Given the description of an element on the screen output the (x, y) to click on. 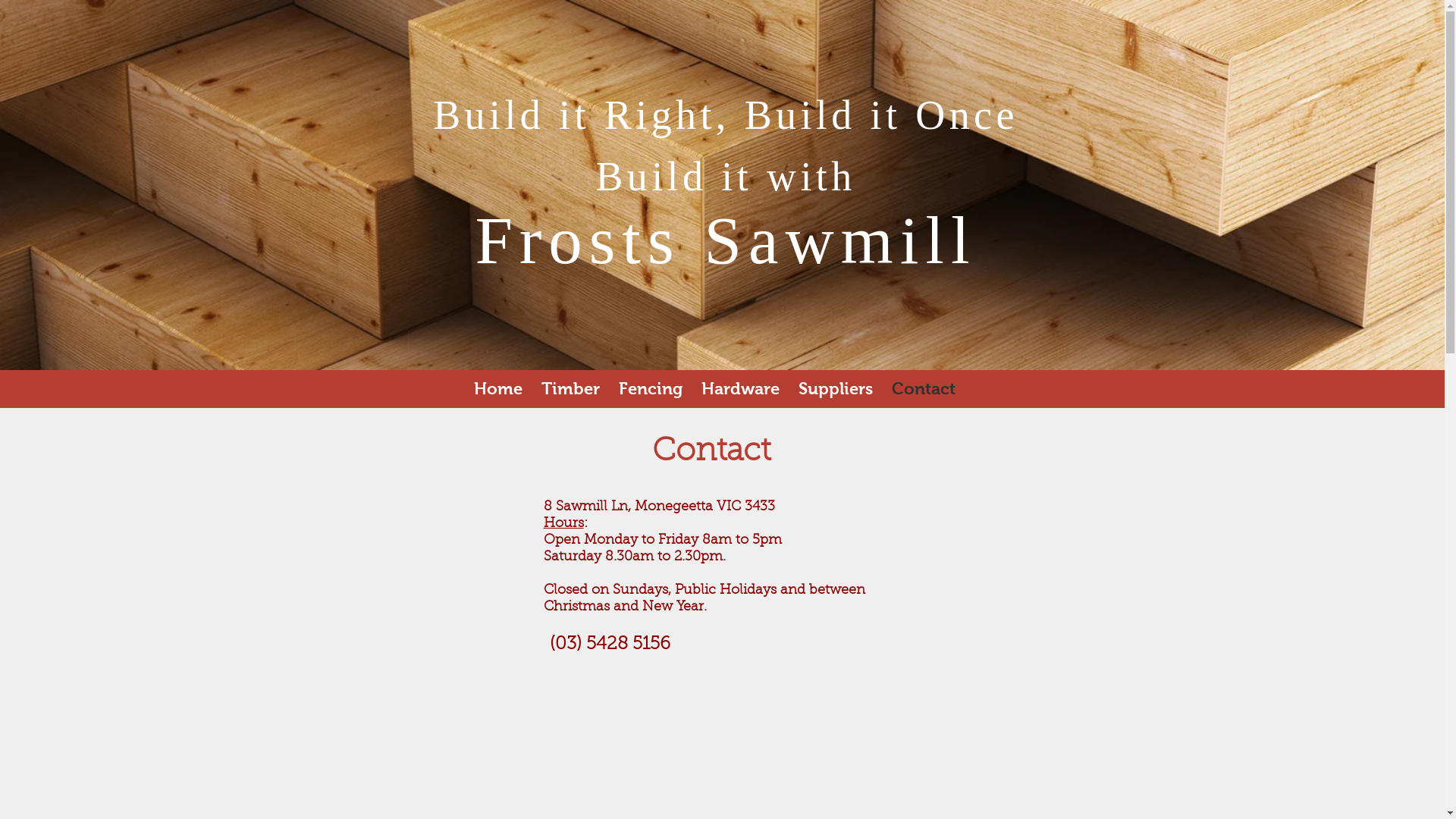
Home Element type: text (498, 388)
Contact Element type: text (923, 388)
Timber Element type: text (570, 388)
Suppliers Element type: text (834, 388)
Fencing Element type: text (650, 388)
Hours Element type: text (562, 523)
Hardware Element type: text (739, 388)
